Given the description of an element on the screen output the (x, y) to click on. 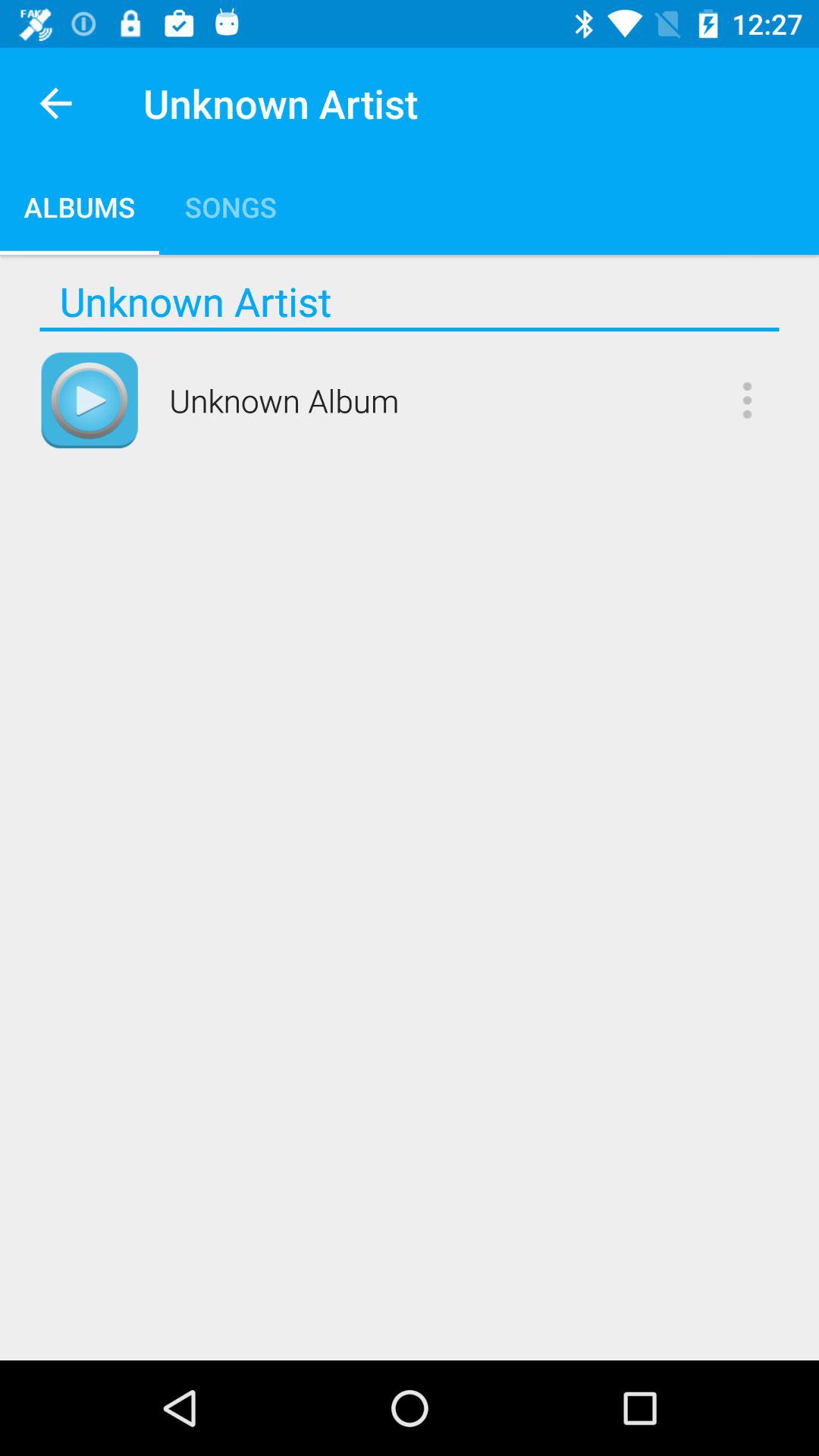
select the item above albums icon (55, 103)
